Given the description of an element on the screen output the (x, y) to click on. 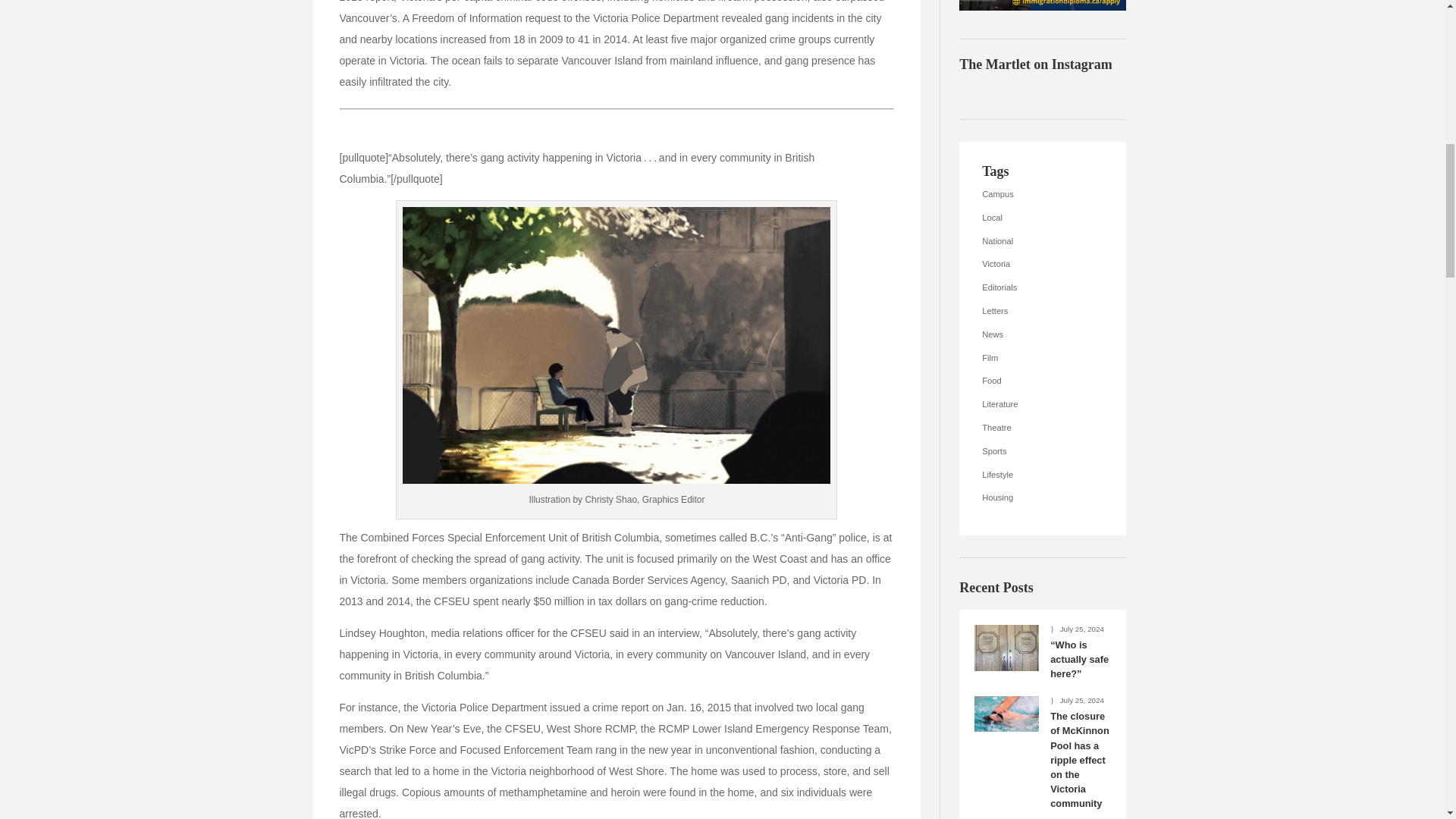
Campus (1042, 194)
Local (1042, 218)
